Given the description of an element on the screen output the (x, y) to click on. 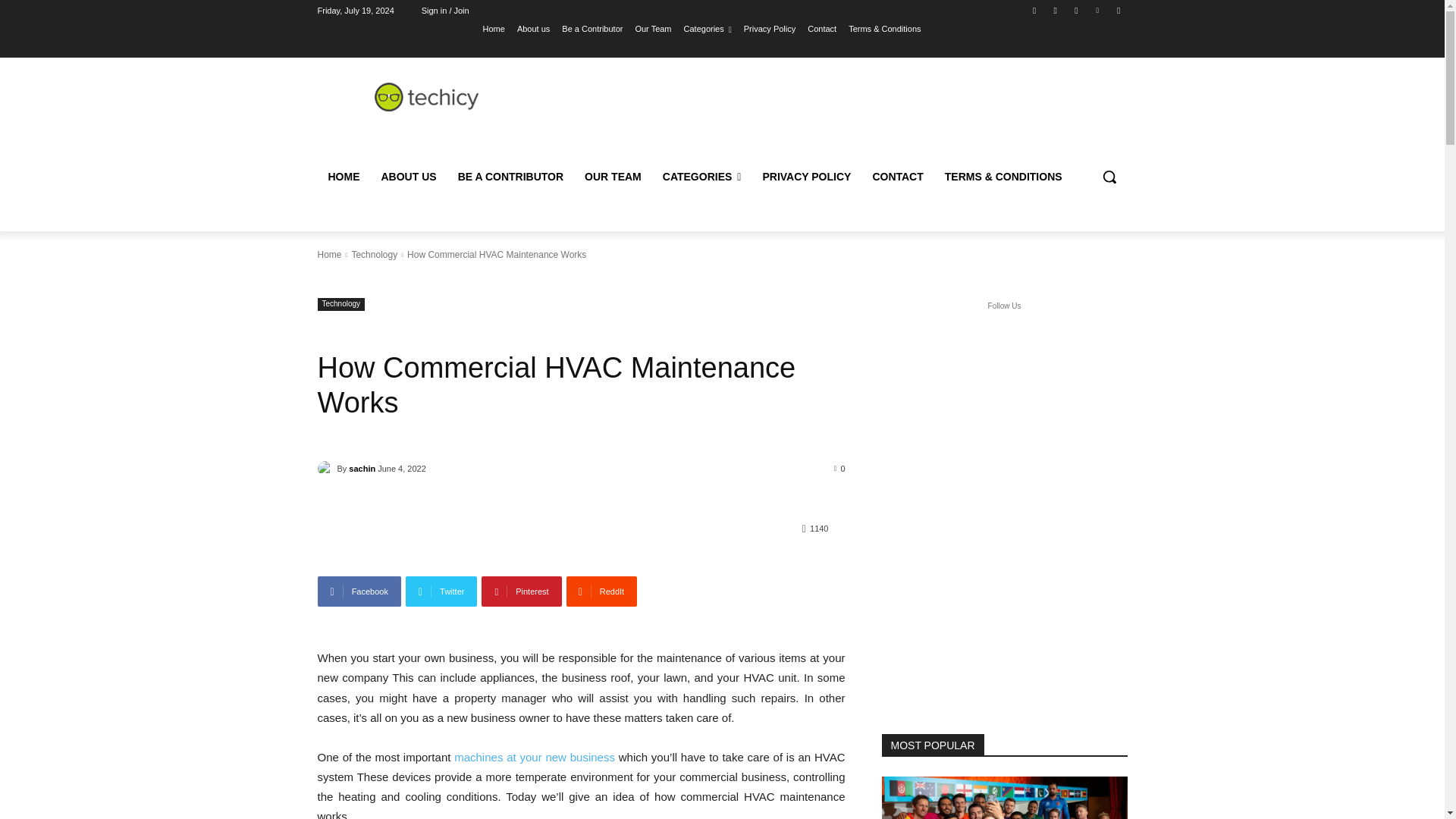
Instagram (1055, 9)
Contact (821, 28)
Our Team (652, 28)
sachin (326, 468)
Privacy Policy (769, 28)
Twitter (441, 591)
Facebook (1034, 9)
View all posts in Technology (373, 254)
Vimeo (1097, 9)
Categories (708, 28)
Twitter (1075, 9)
Home (494, 28)
Facebook (358, 591)
Youtube (1117, 9)
About us (533, 28)
